Given the description of an element on the screen output the (x, y) to click on. 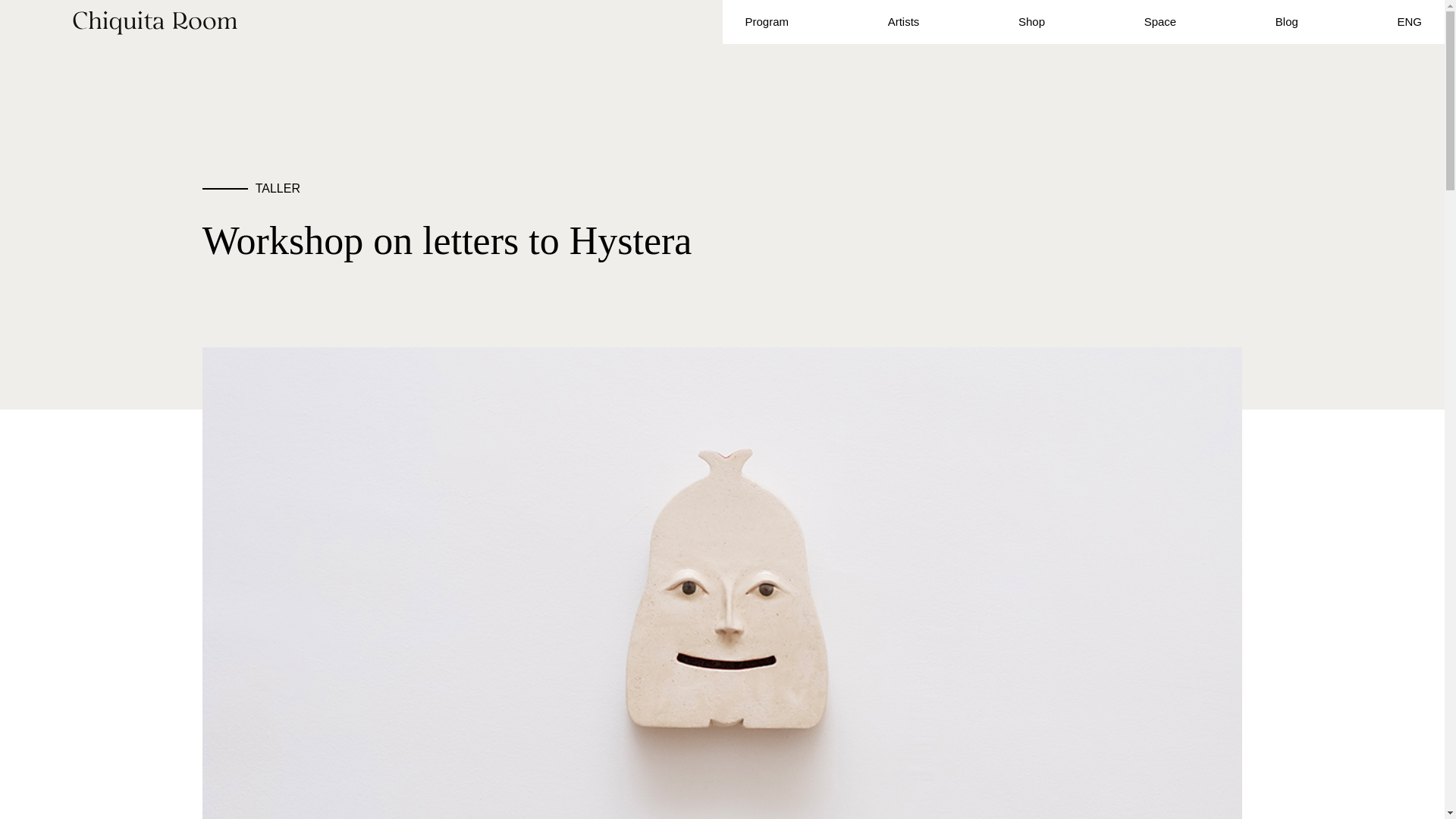
Program (766, 21)
Blog (1286, 21)
ENG (1409, 21)
Space (1160, 21)
Artists (904, 21)
Shop (1031, 21)
ENG (1409, 21)
